Given the description of an element on the screen output the (x, y) to click on. 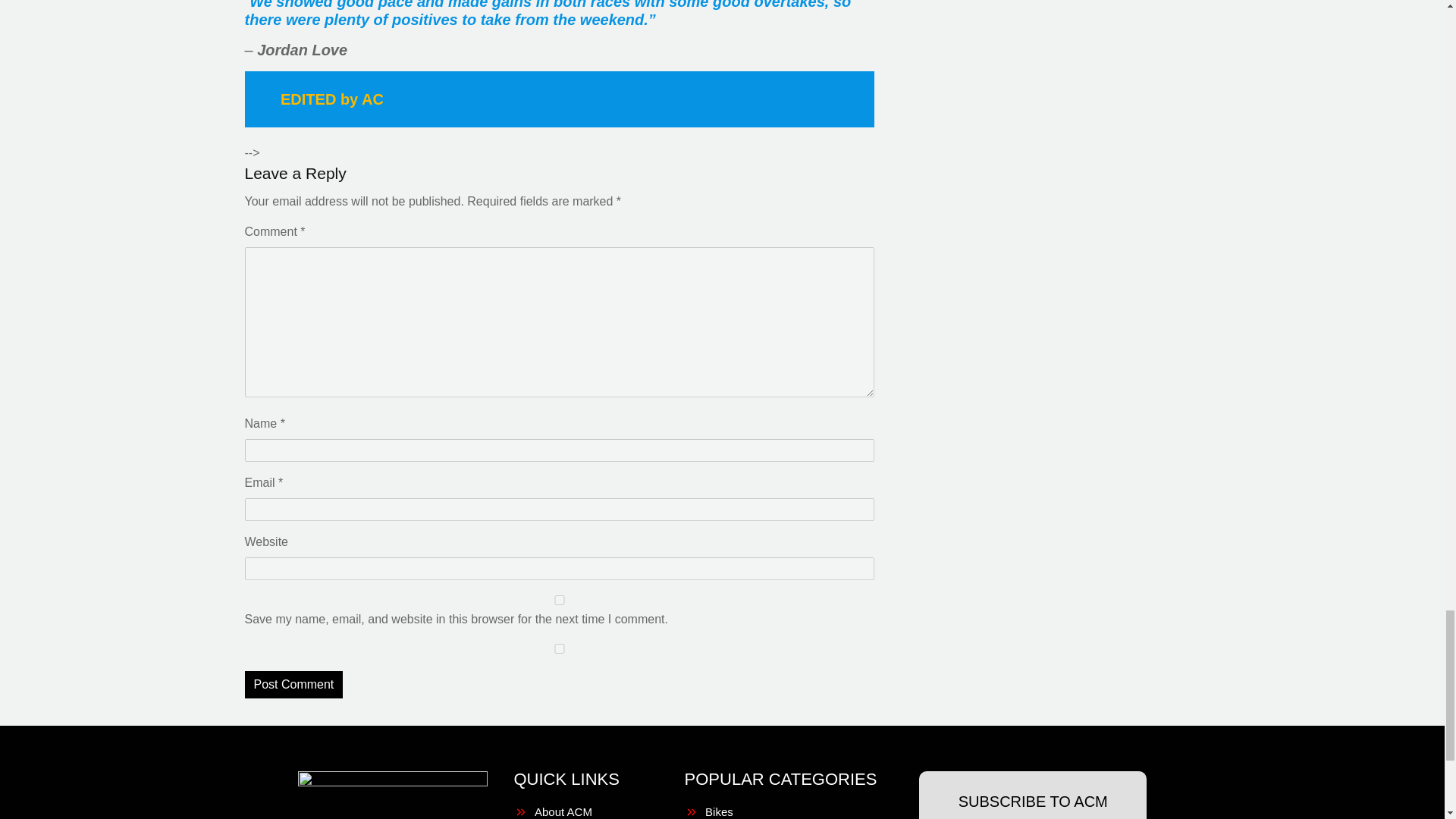
Post Comment (293, 684)
Post Comment (293, 684)
yes (558, 648)
yes (558, 600)
